Given the description of an element on the screen output the (x, y) to click on. 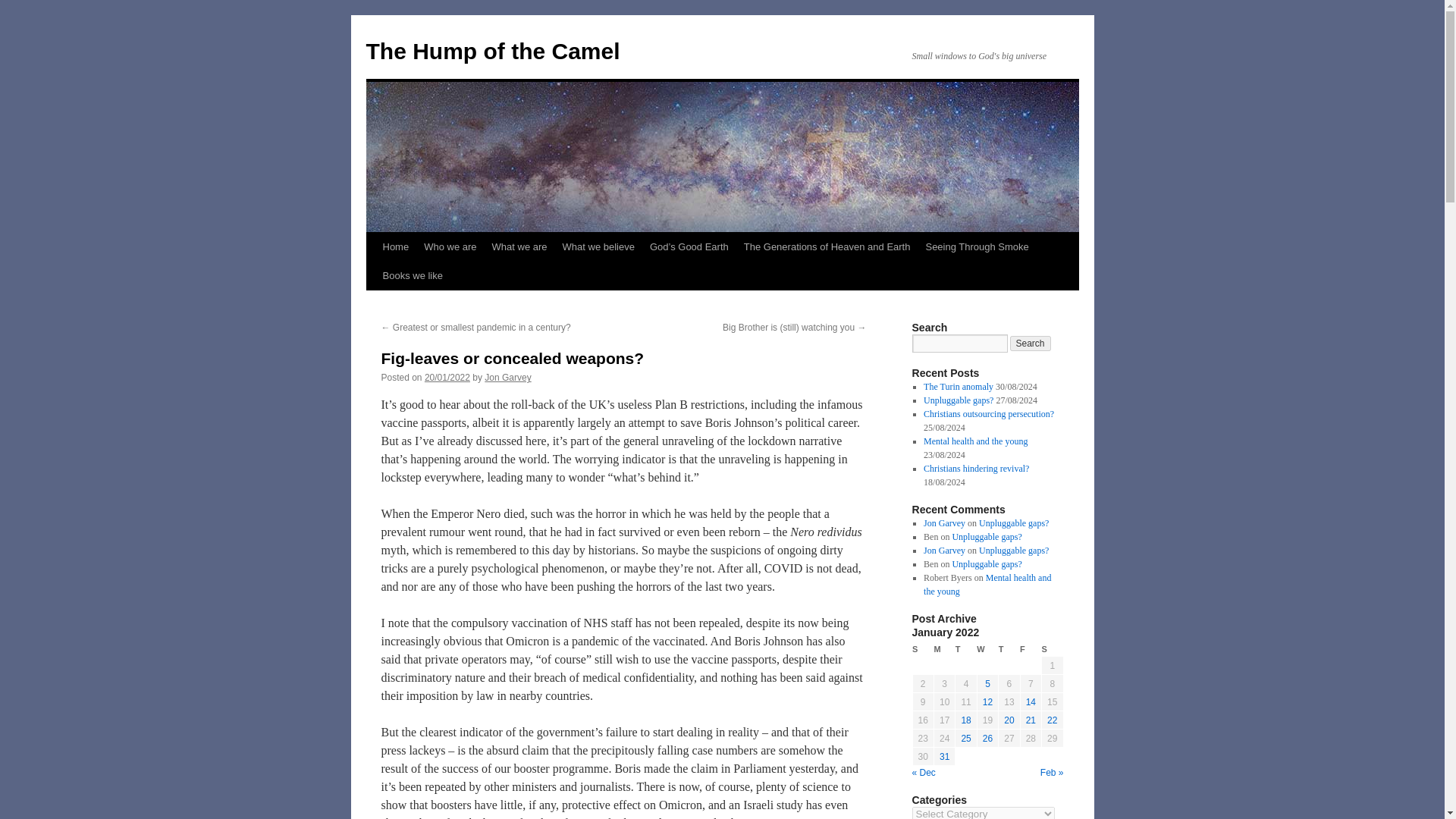
11:05 am (447, 377)
Friday (1030, 649)
Jon Garvey (507, 377)
Who we are (449, 246)
Monday (944, 649)
Saturday (1052, 649)
The Generations of Heaven and Earth (827, 246)
Mental health and the young (975, 440)
The Hump of the Camel (492, 50)
View all posts by Jon Garvey (507, 377)
